Given the description of an element on the screen output the (x, y) to click on. 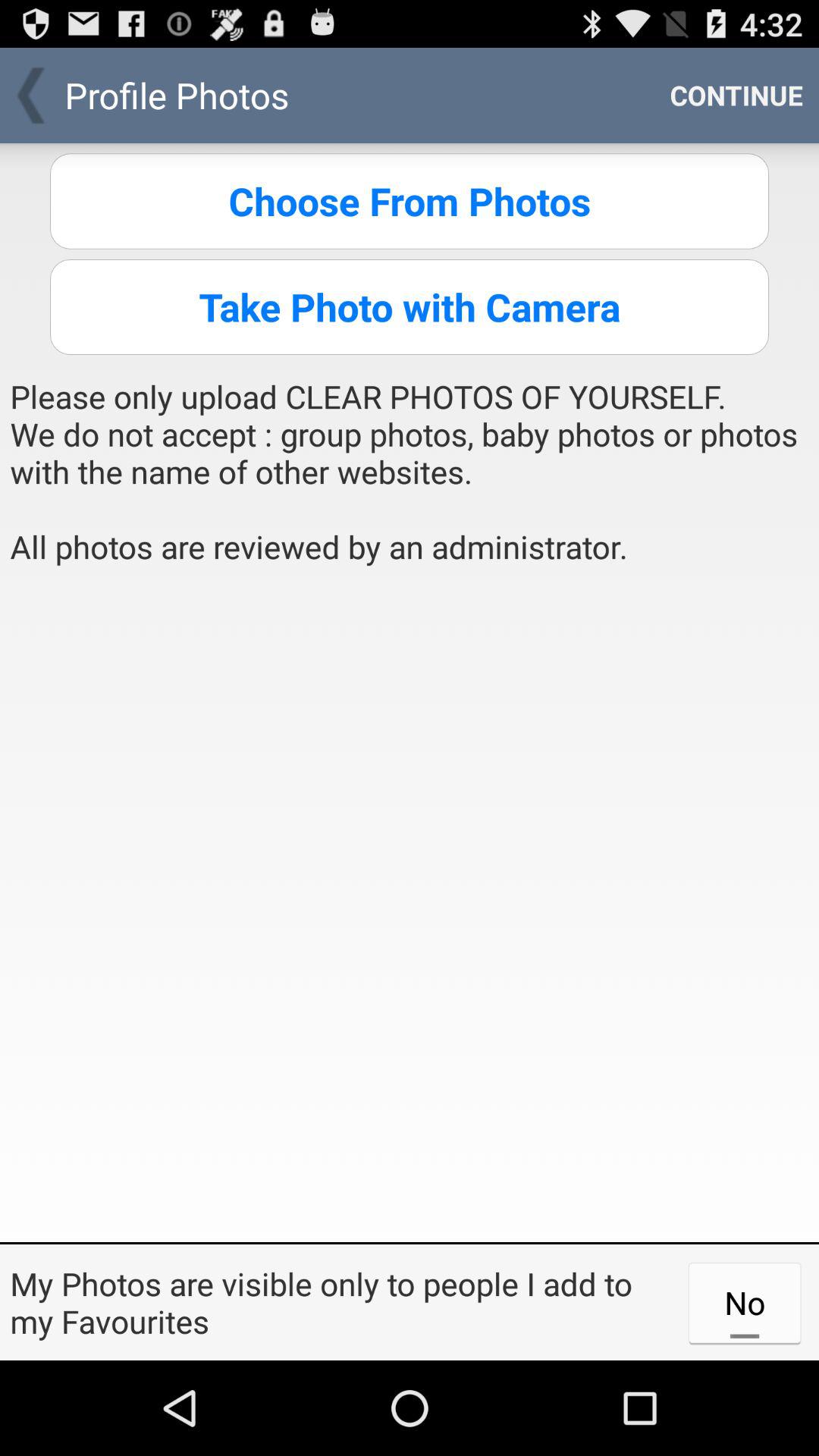
swipe to the continue (736, 95)
